Given the description of an element on the screen output the (x, y) to click on. 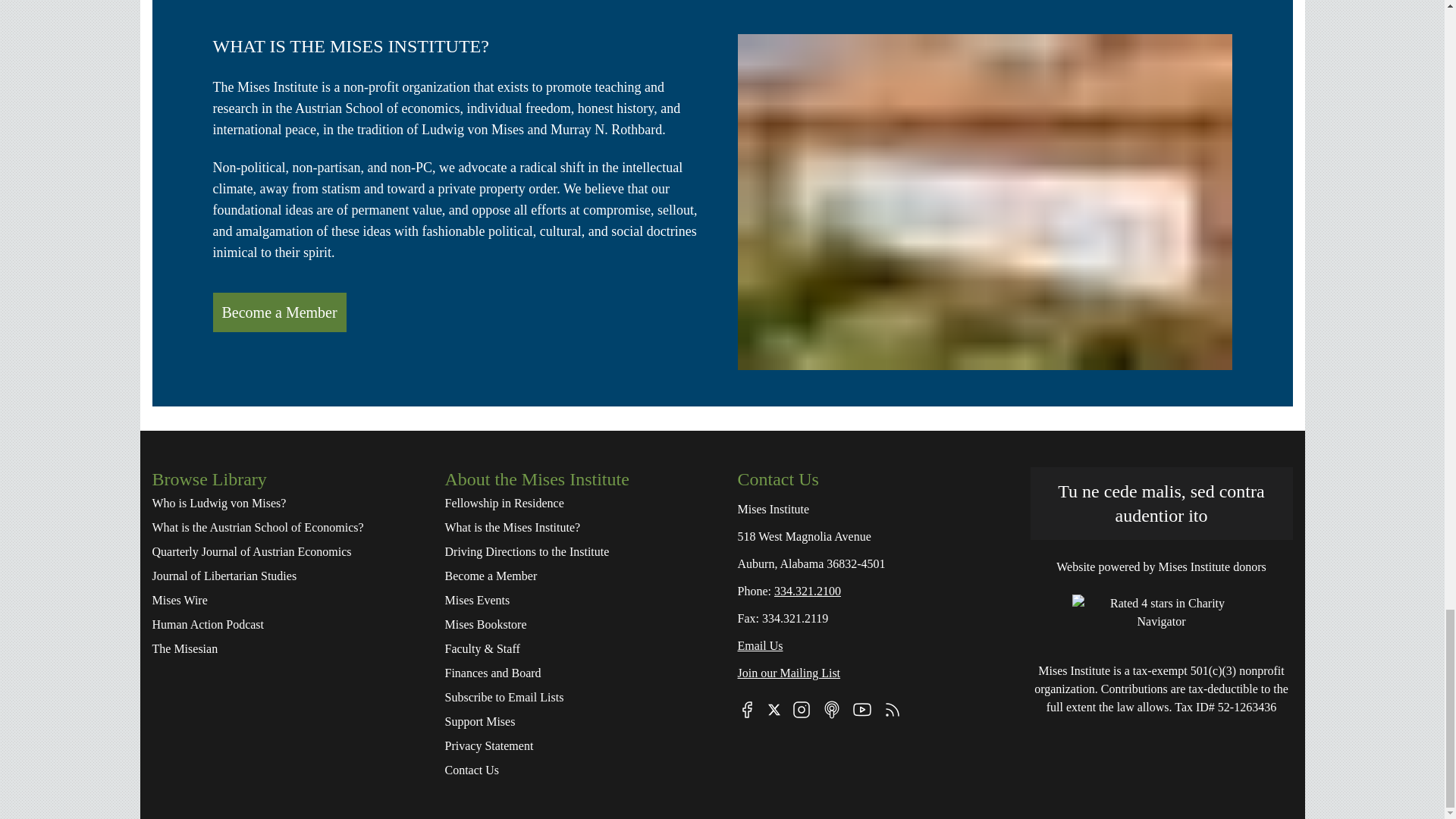
The Misesian (282, 648)
